Given the description of an element on the screen output the (x, y) to click on. 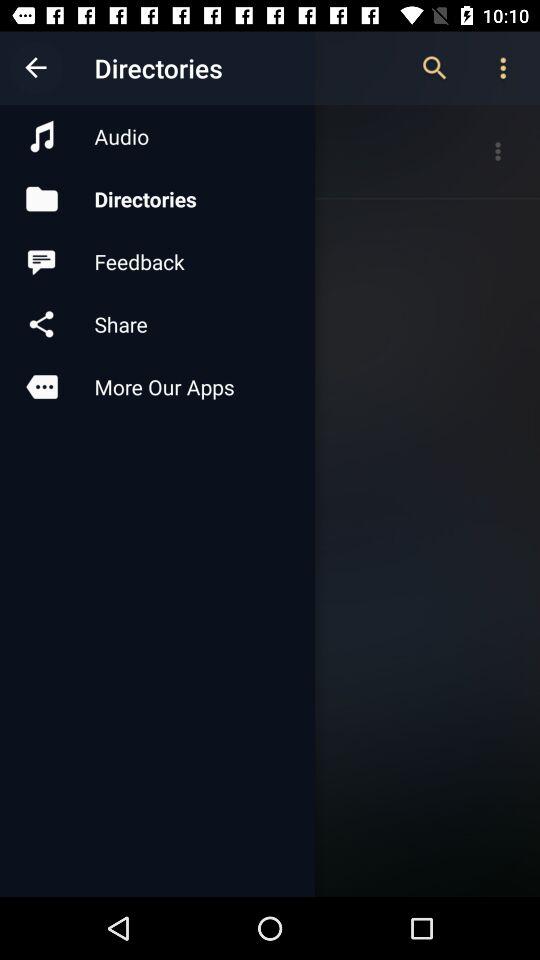
turn on icon below feedback (157, 323)
